Given the description of an element on the screen output the (x, y) to click on. 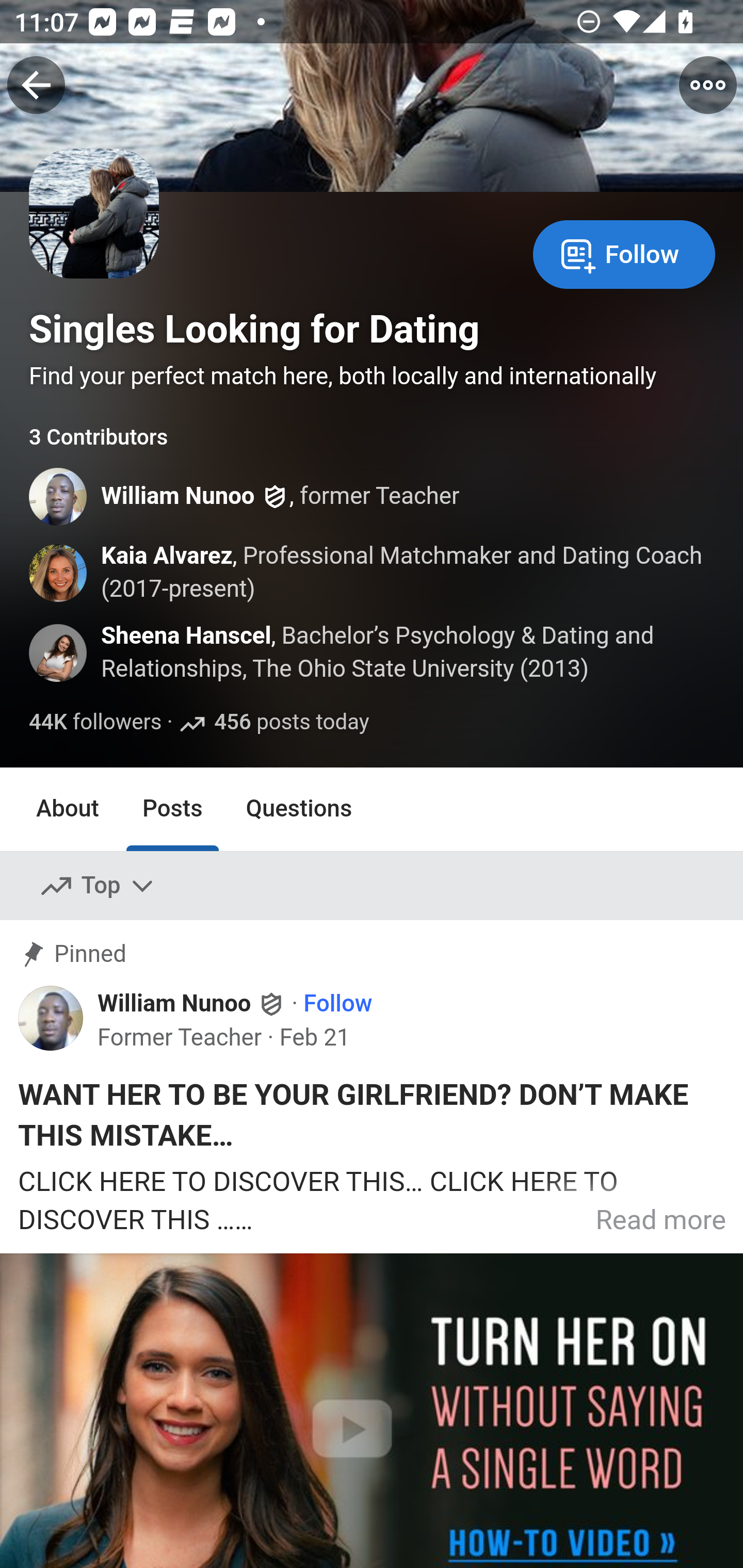
Follow (623, 252)
Singles Looking for Dating (254, 329)
Profile photo for William Nunoo (58, 496)
William Nunoo (178, 496)
Kaia Alvarez (166, 556)
Profile photo for Kaia Alvarez (58, 572)
Sheena Hanscel (186, 637)
Profile photo for Sheena Hanscel (58, 652)
About (68, 808)
Posts (171, 808)
Questions (299, 808)
Top (97, 886)
Profile photo for William Nunoo (50, 1016)
William Nunoo William Nunoo   (191, 1004)
Follow (338, 1004)
